Given the description of an element on the screen output the (x, y) to click on. 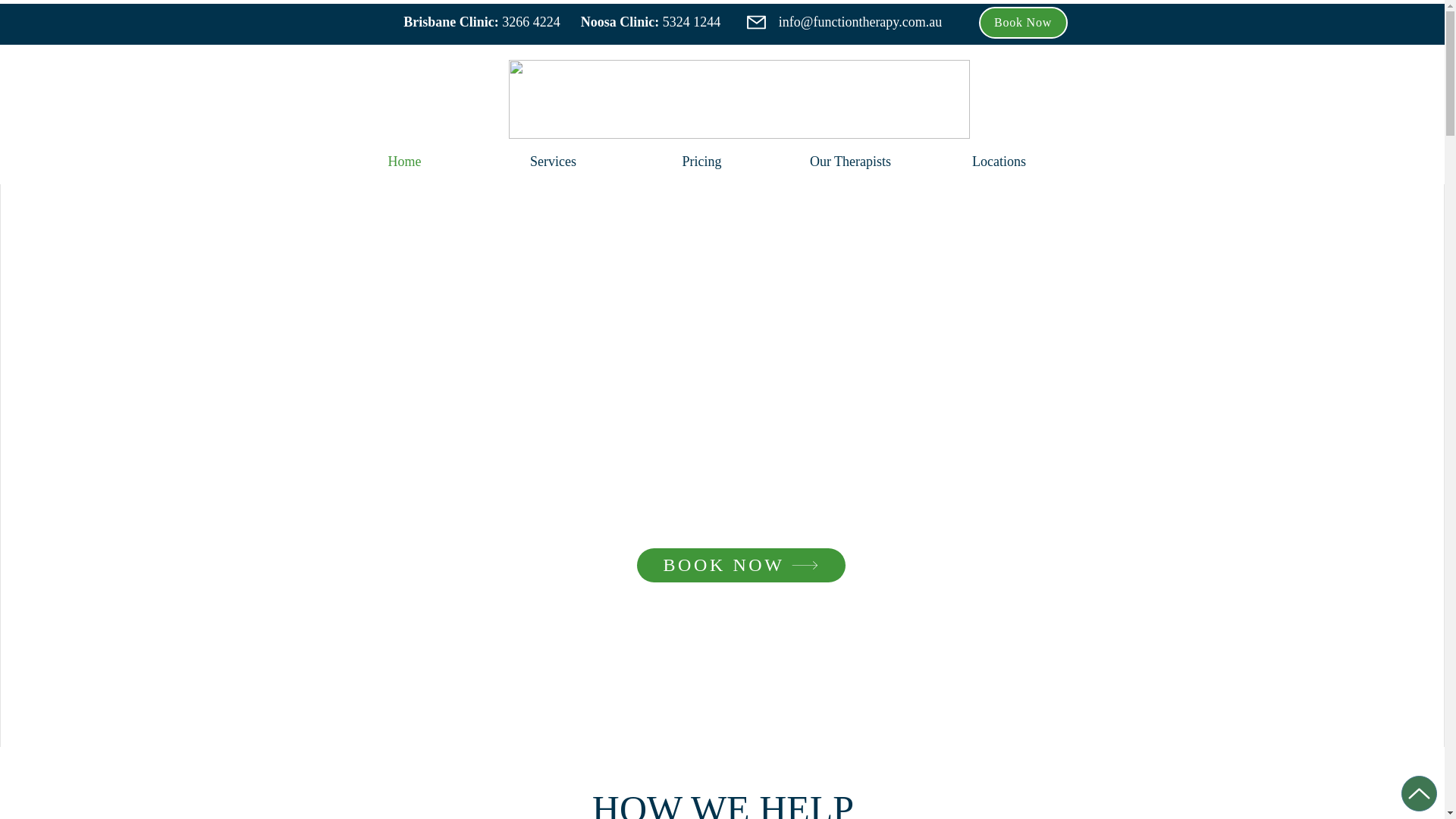
3266 4224 Element type: text (531, 21)
BOOK NOW Element type: text (741, 565)
5324 1244 Element type: text (691, 21)
FunctionLogoShadow.png Element type: hover (738, 98)
Book Now Element type: text (1022, 22)
info@functiontherapy.com.au Element type: text (859, 21)
Pricing Element type: text (701, 161)
Home Element type: text (404, 161)
